Given the description of an element on the screen output the (x, y) to click on. 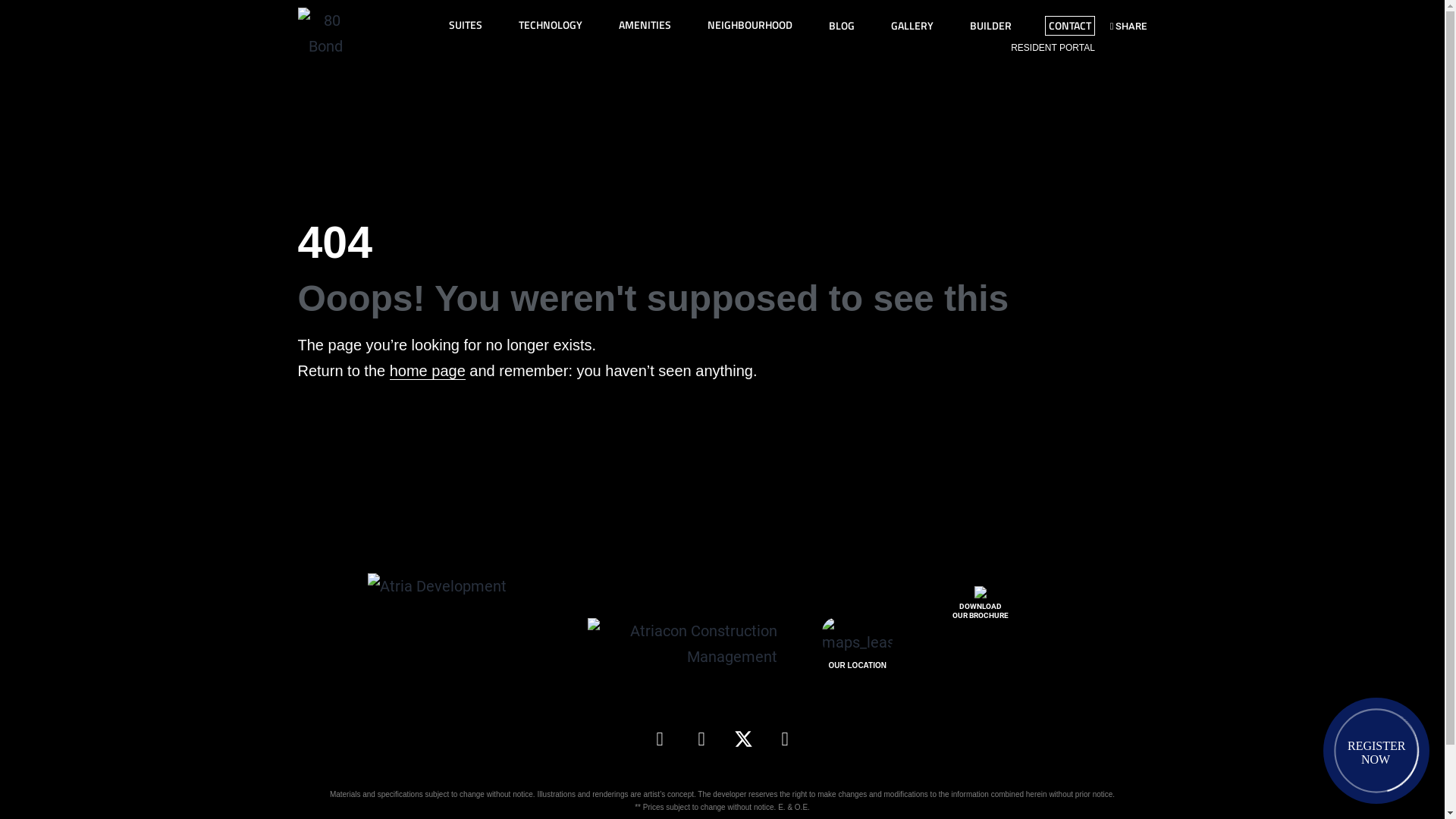
CONTACT Element type: text (1069, 25)
GALLERY Element type: text (912, 25)
REGISTER
NOW Element type: text (1376, 750)
AMENITIES Element type: text (644, 24)
SUITES Element type: text (465, 24)
BLOG Element type: text (841, 25)
TECHNOLOGY Element type: text (550, 24)
BUILDER Element type: text (990, 25)
RESIDENT PORTAL Element type: text (1052, 47)
home page Element type: text (427, 370)
SHARE Element type: text (1128, 26)
NEIGHBOURHOOD Element type: text (748, 24)
DOWNLOAD
OUR BROCHURE Element type: text (980, 604)
